Given the description of an element on the screen output the (x, y) to click on. 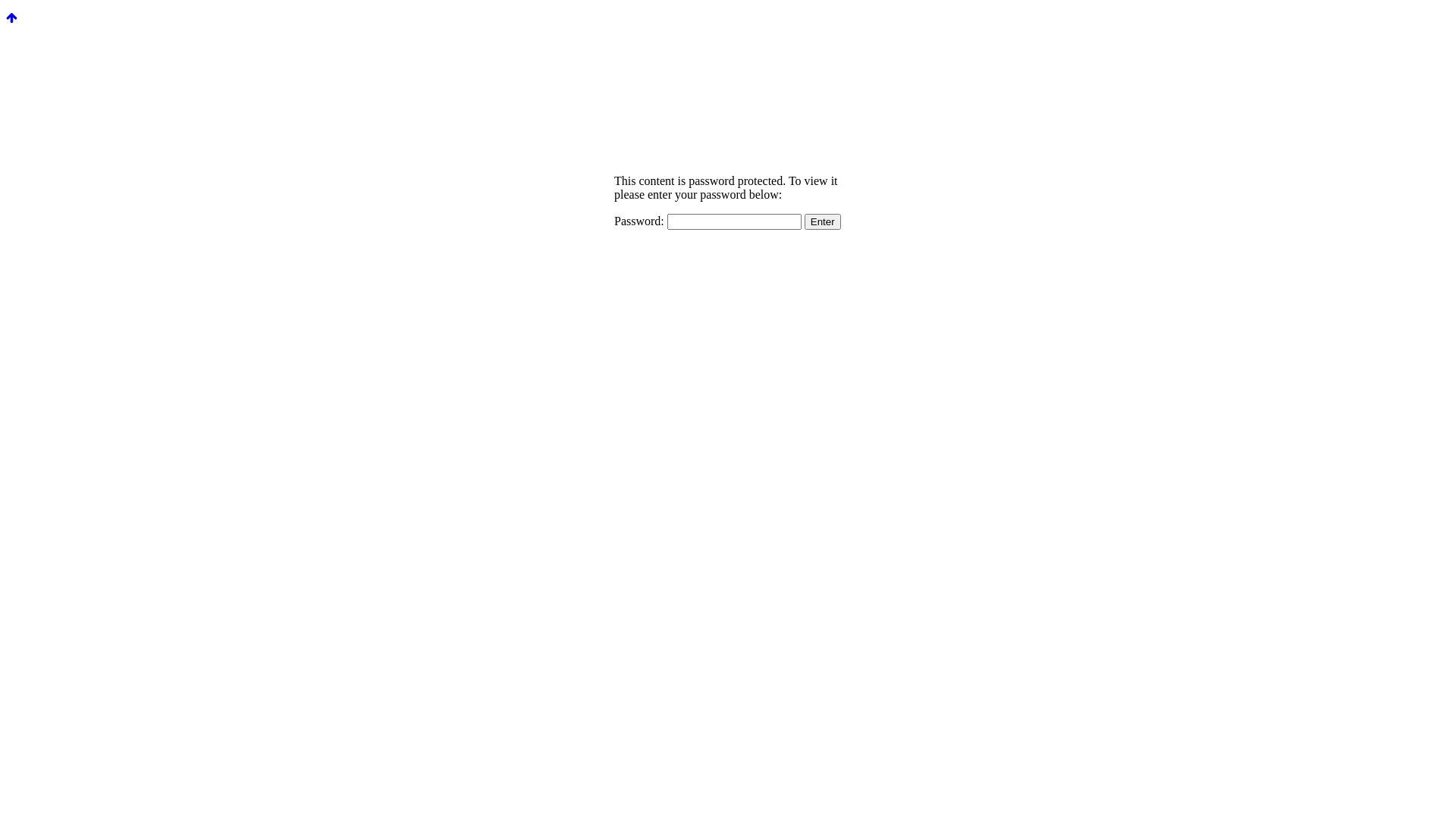
Enter Element type: text (822, 221)
